Given the description of an element on the screen output the (x, y) to click on. 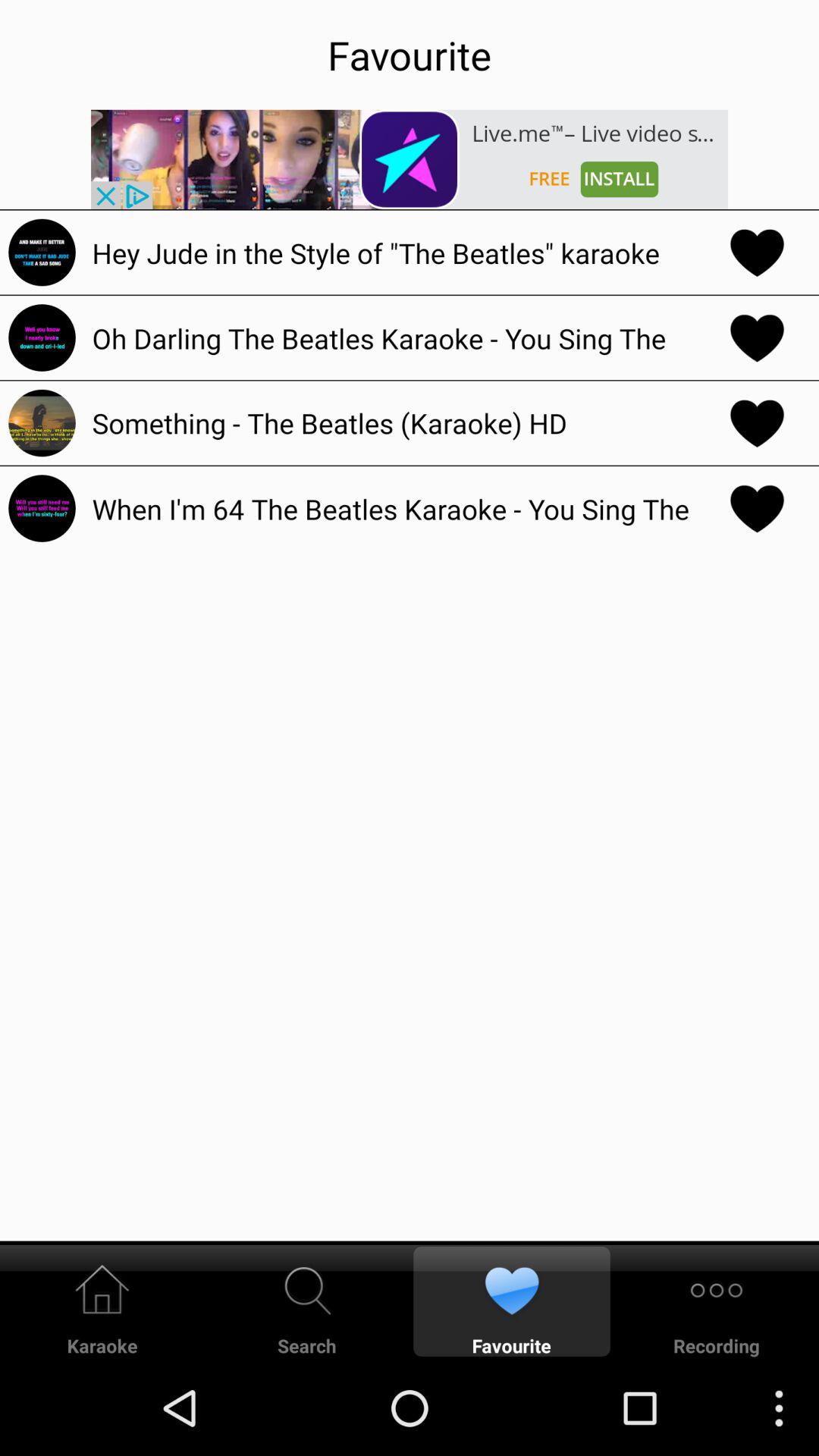
click on the icon to left side of oh darling the beatles karaoke  you sing the (41, 337)
click on the third black heart (757, 422)
click on the button which is next to the karaoke (306, 1300)
click on the heart symbol in the second line (757, 337)
click on the icon to left side of something  the beatles karaoke hd (41, 422)
